Given the description of an element on the screen output the (x, y) to click on. 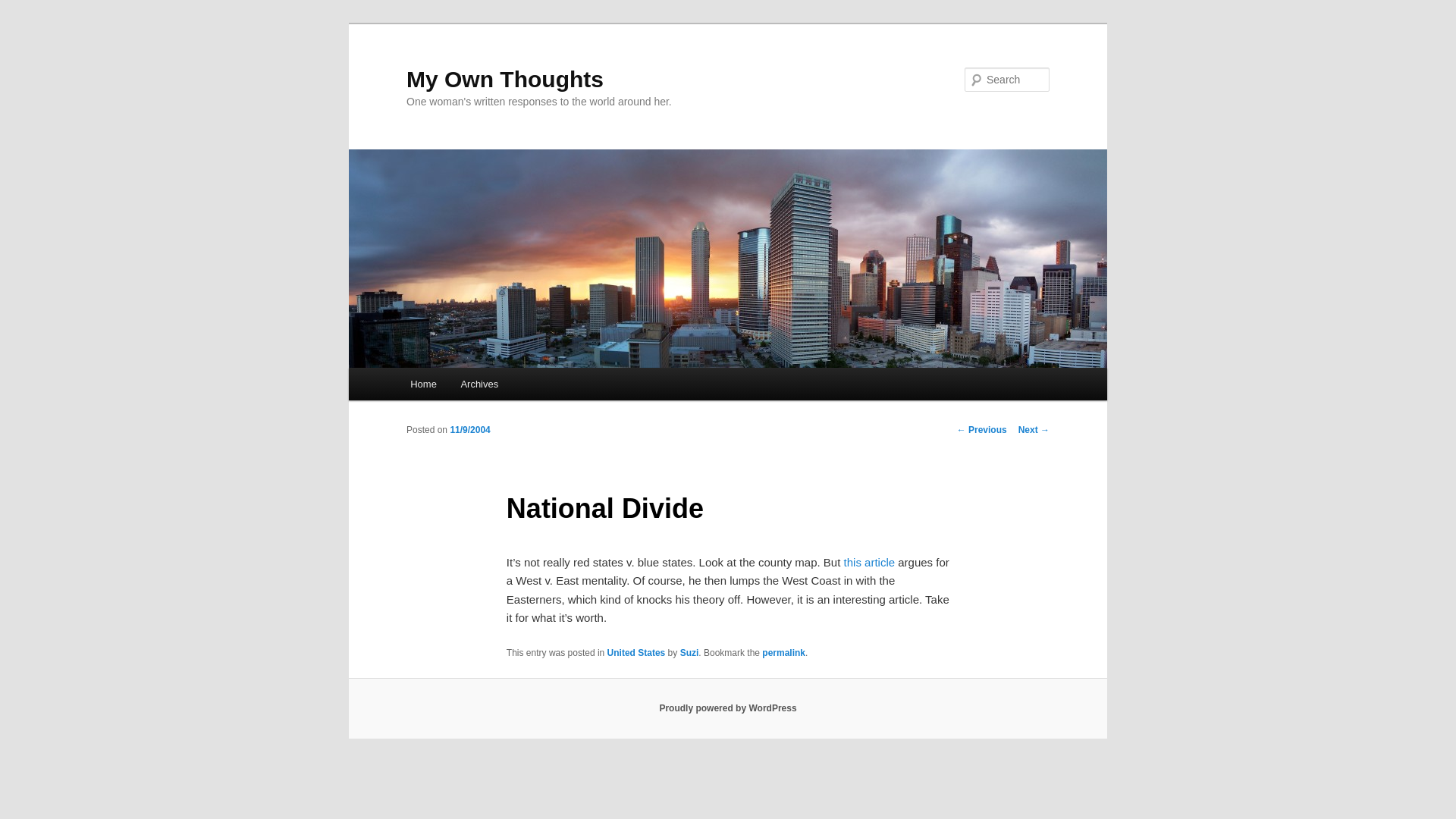
Search (24, 8)
Suzi (688, 652)
permalink (783, 652)
Proudly powered by WordPress (727, 707)
10:59 am (469, 429)
Permalink to National Divide (783, 652)
United States (636, 652)
Home (422, 383)
Semantic Personal Publishing Platform (727, 707)
My Own Thoughts (505, 78)
Archives (479, 383)
this article (869, 562)
